Given the description of an element on the screen output the (x, y) to click on. 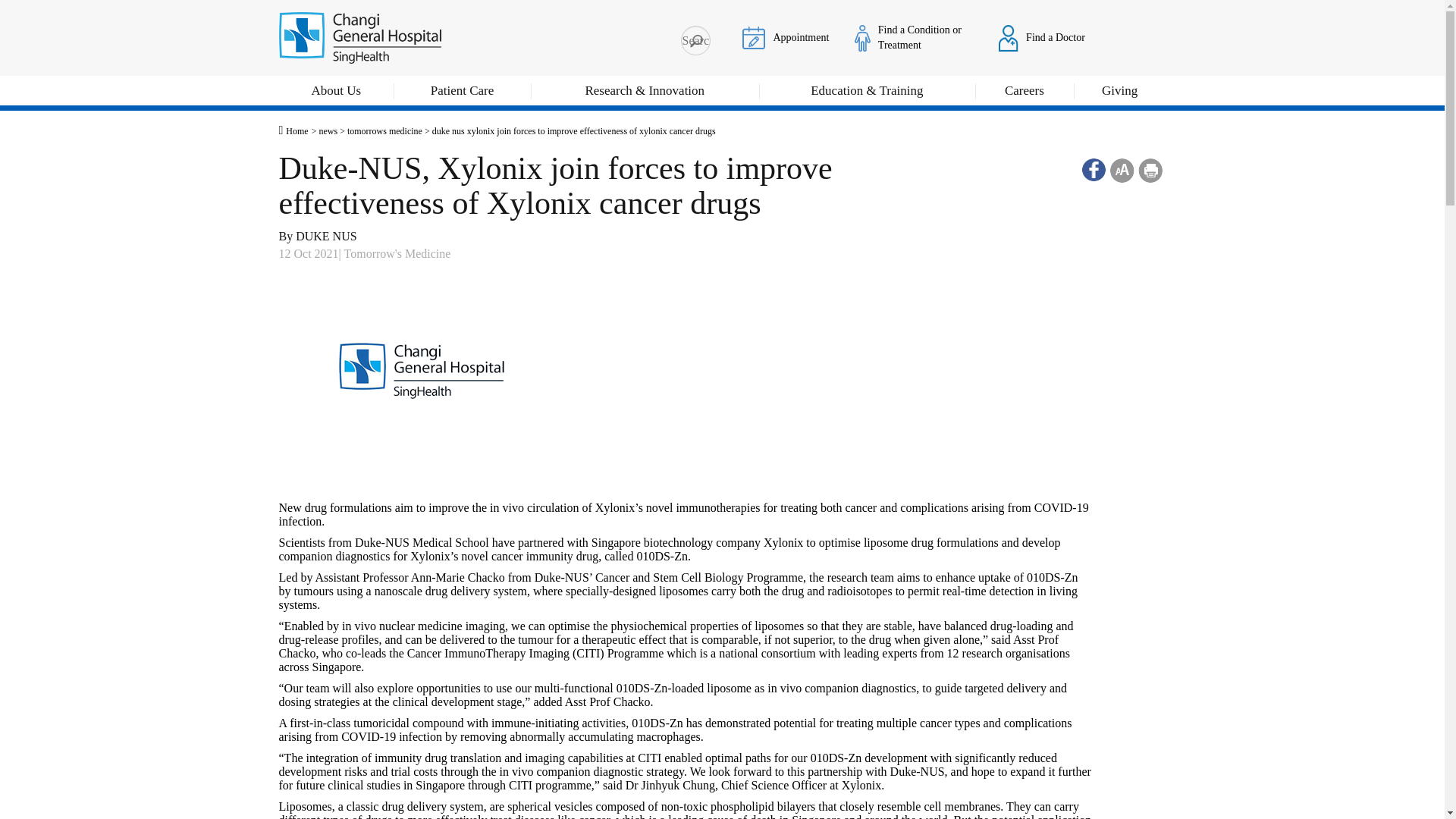
Facebook (1093, 170)
How can we help you? (695, 40)
About Us (336, 93)
Find a Doctor (1007, 37)
Find a Condition or Treatment (913, 37)
Print (1149, 170)
Find a Condition or Treatment (861, 37)
Appointment (785, 37)
Appointment (753, 37)
Find a Doctor (1042, 37)
